Given the description of an element on the screen output the (x, y) to click on. 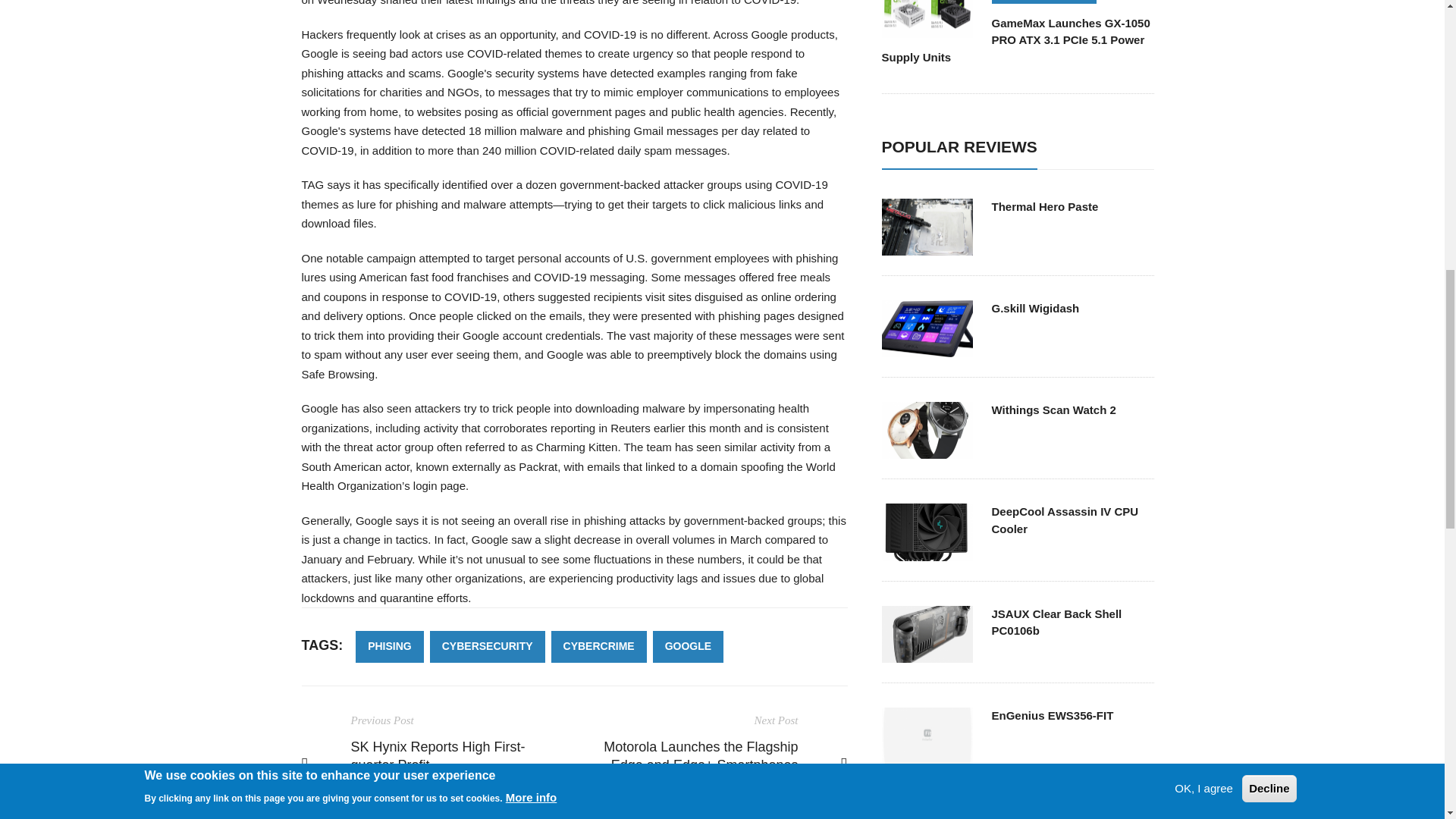
PHISING (389, 646)
CYBERSECURITY (486, 646)
SK Hynix Reports High First-quarter Profit (437, 756)
GOOGLE (687, 646)
CYBERCRIME (598, 646)
